Given the description of an element on the screen output the (x, y) to click on. 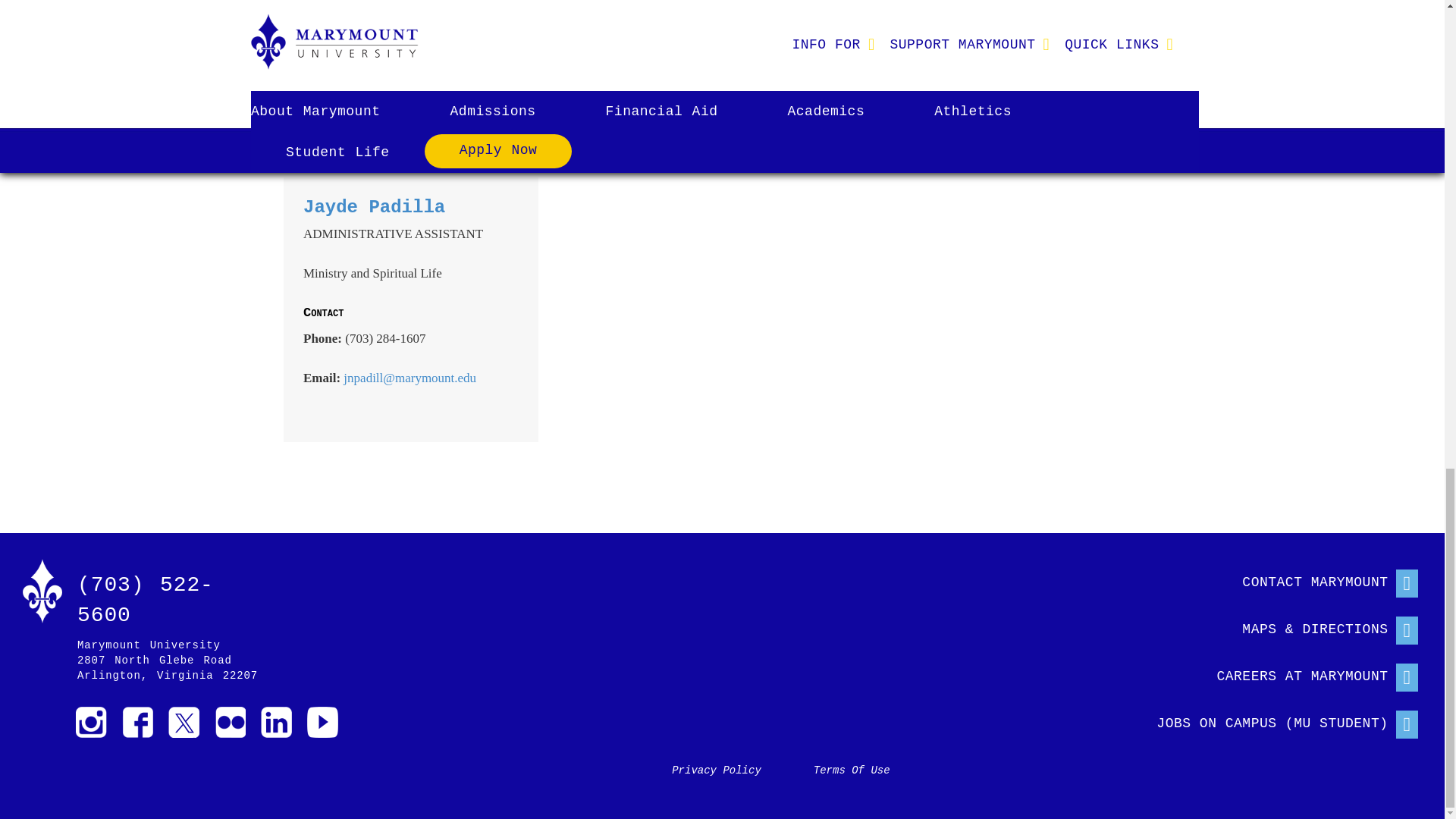
Youtube (322, 721)
twitter (183, 721)
Contact Us (1271, 579)
instagram (90, 721)
facebook (137, 721)
flickr (230, 721)
linkedin (276, 721)
